Given the description of an element on the screen output the (x, y) to click on. 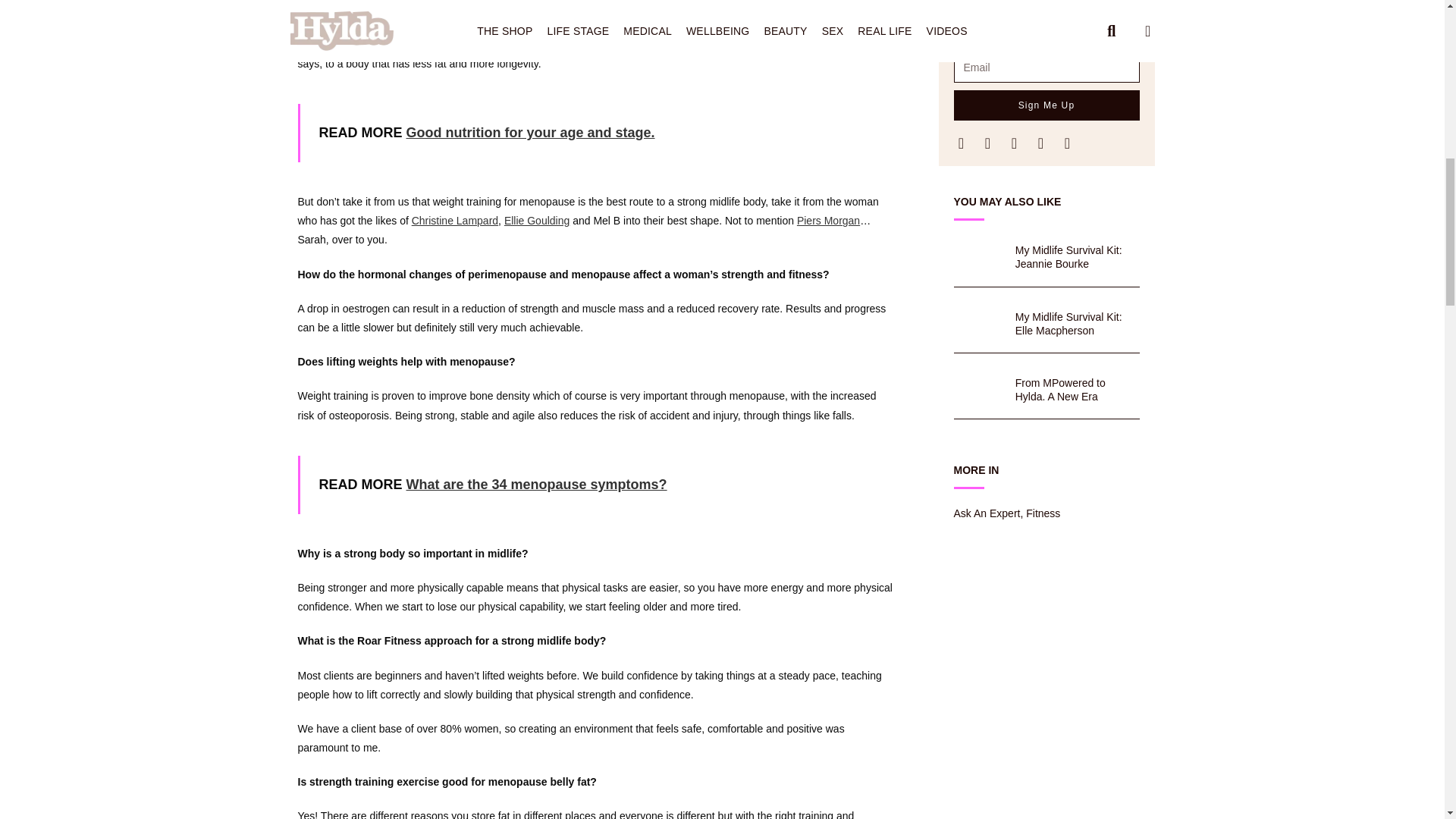
hylda-banner (976, 383)
Elle Macpherson (976, 317)
Jeannie (976, 250)
